Given the description of an element on the screen output the (x, y) to click on. 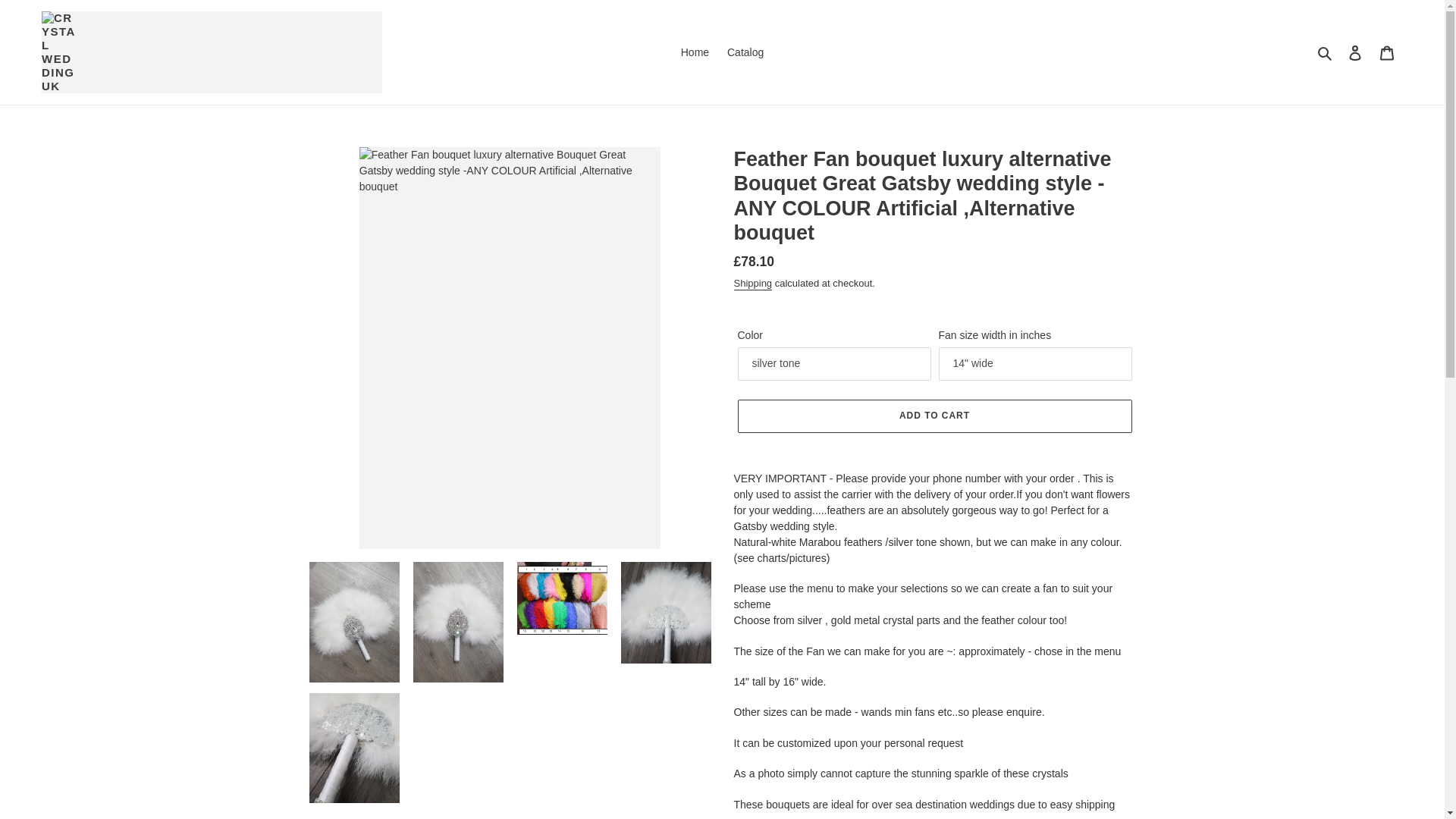
Catalog (745, 28)
Shopify online store chat (1383, 781)
Cart (1387, 29)
Home (694, 28)
Log in (1355, 29)
Search (1326, 28)
More payment options (933, 447)
Shipping (753, 237)
ADD TO CART (933, 369)
